Given the description of an element on the screen output the (x, y) to click on. 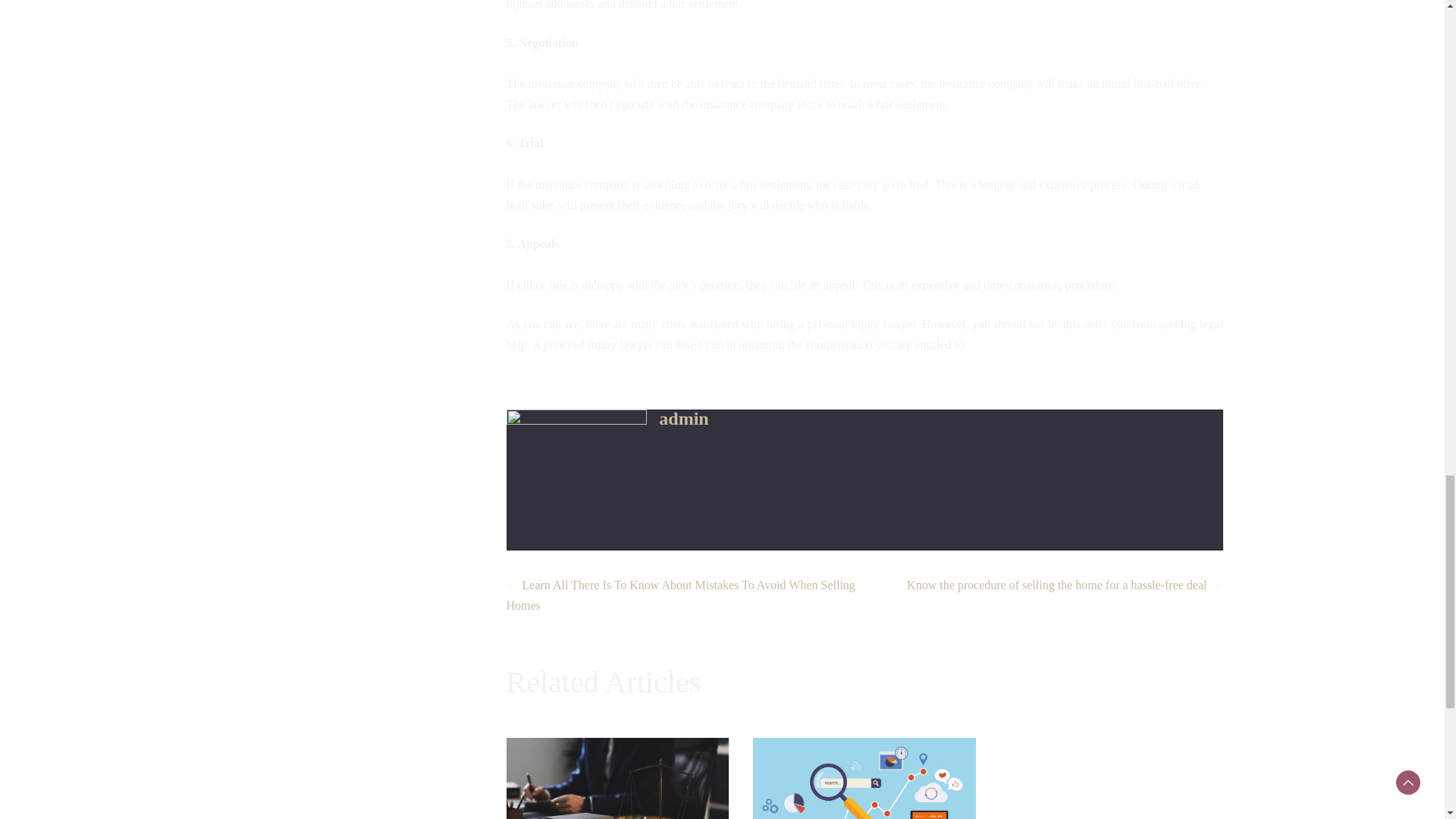
admin (683, 418)
